Given the description of an element on the screen output the (x, y) to click on. 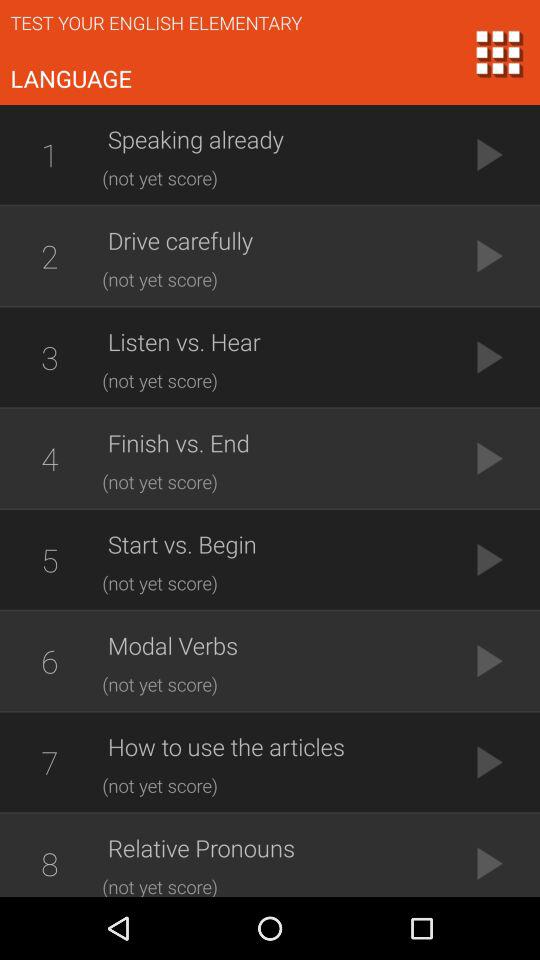
click the icon below 5 (49, 661)
